Given the description of an element on the screen output the (x, y) to click on. 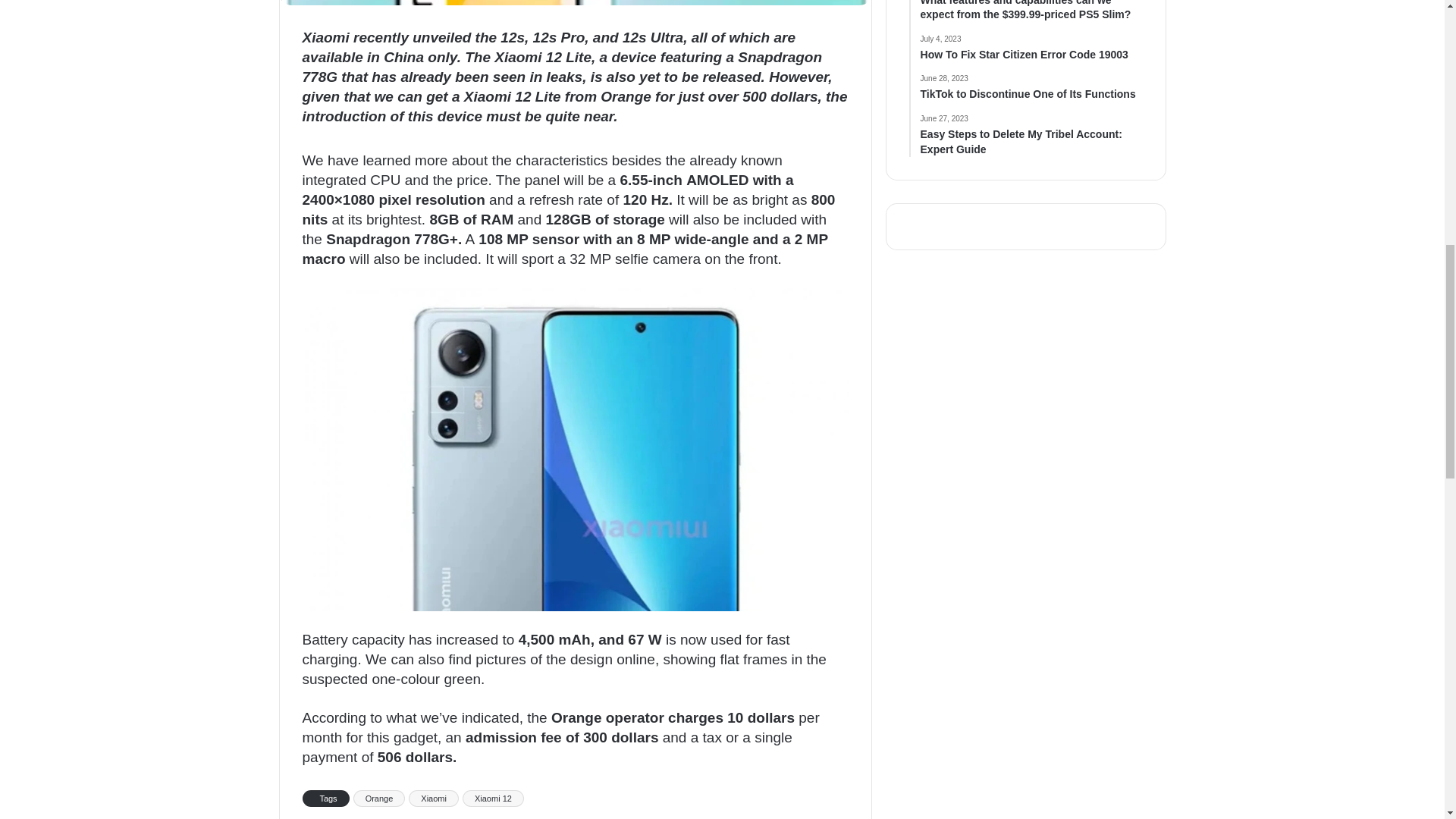
Xiaomi (433, 798)
Orange (379, 798)
Xiaomi 12 (493, 798)
